Given the description of an element on the screen output the (x, y) to click on. 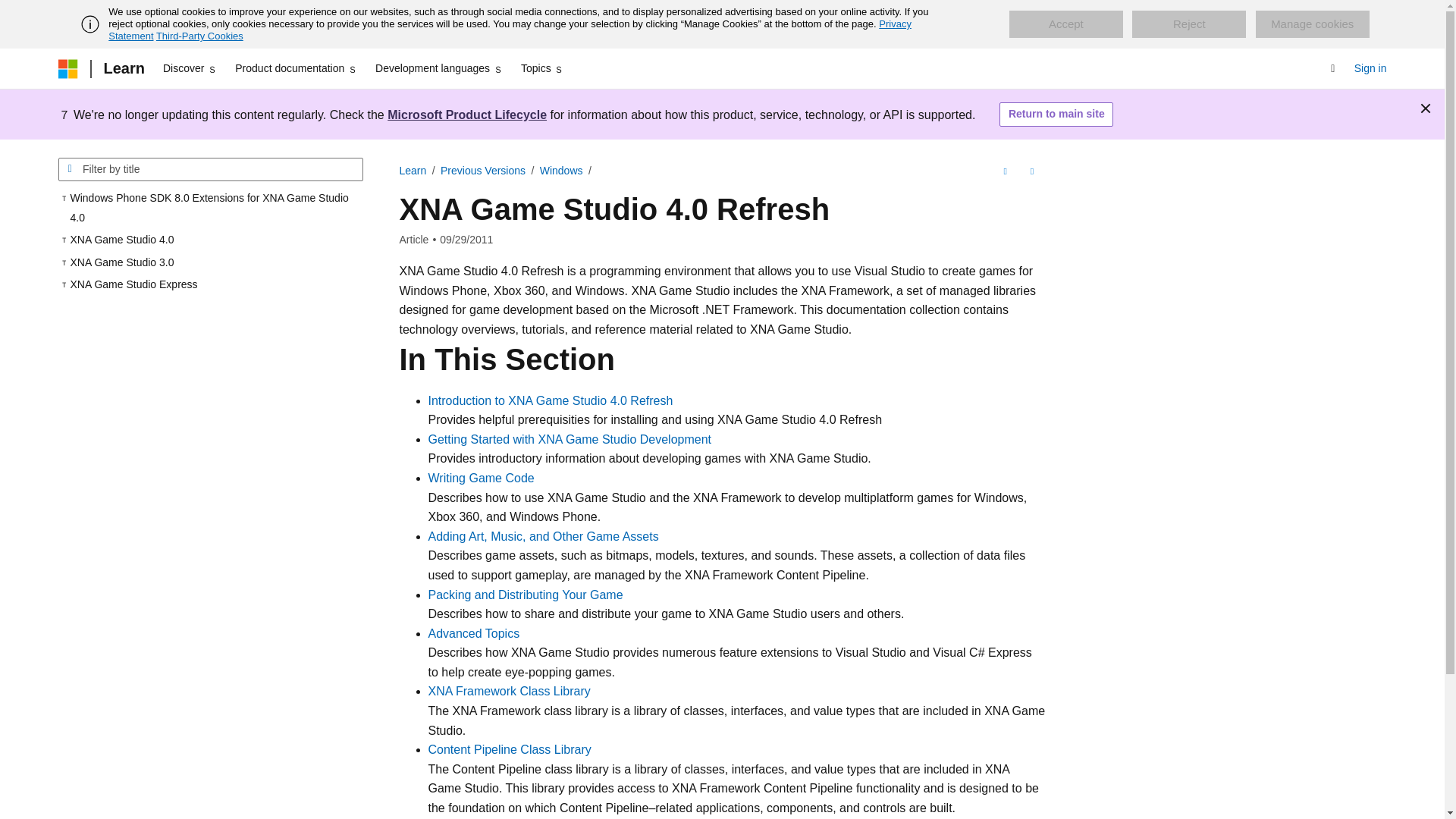
Discover (189, 68)
More actions (1031, 170)
Sign in (1370, 68)
Learn (412, 170)
Microsoft Product Lifecycle (467, 114)
Learn (123, 68)
Development languages (438, 68)
Third-Party Cookies (199, 35)
Previous Versions (483, 170)
Manage cookies (1312, 23)
